Given the description of an element on the screen output the (x, y) to click on. 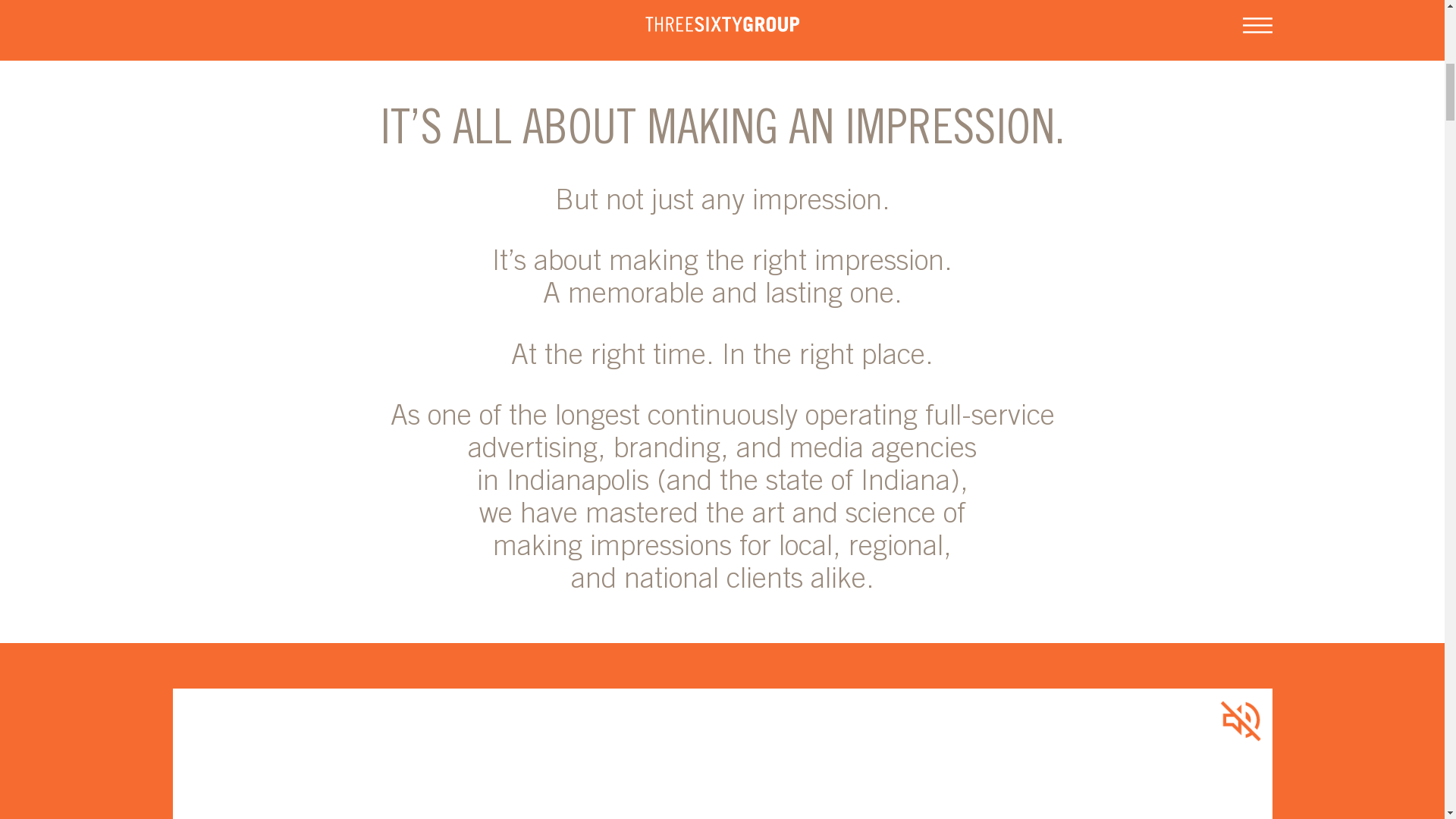
Toggle Menu Element type: hover (1256, 783)
360grouplogowhite Element type: hover (722, 473)
